Given the description of an element on the screen output the (x, y) to click on. 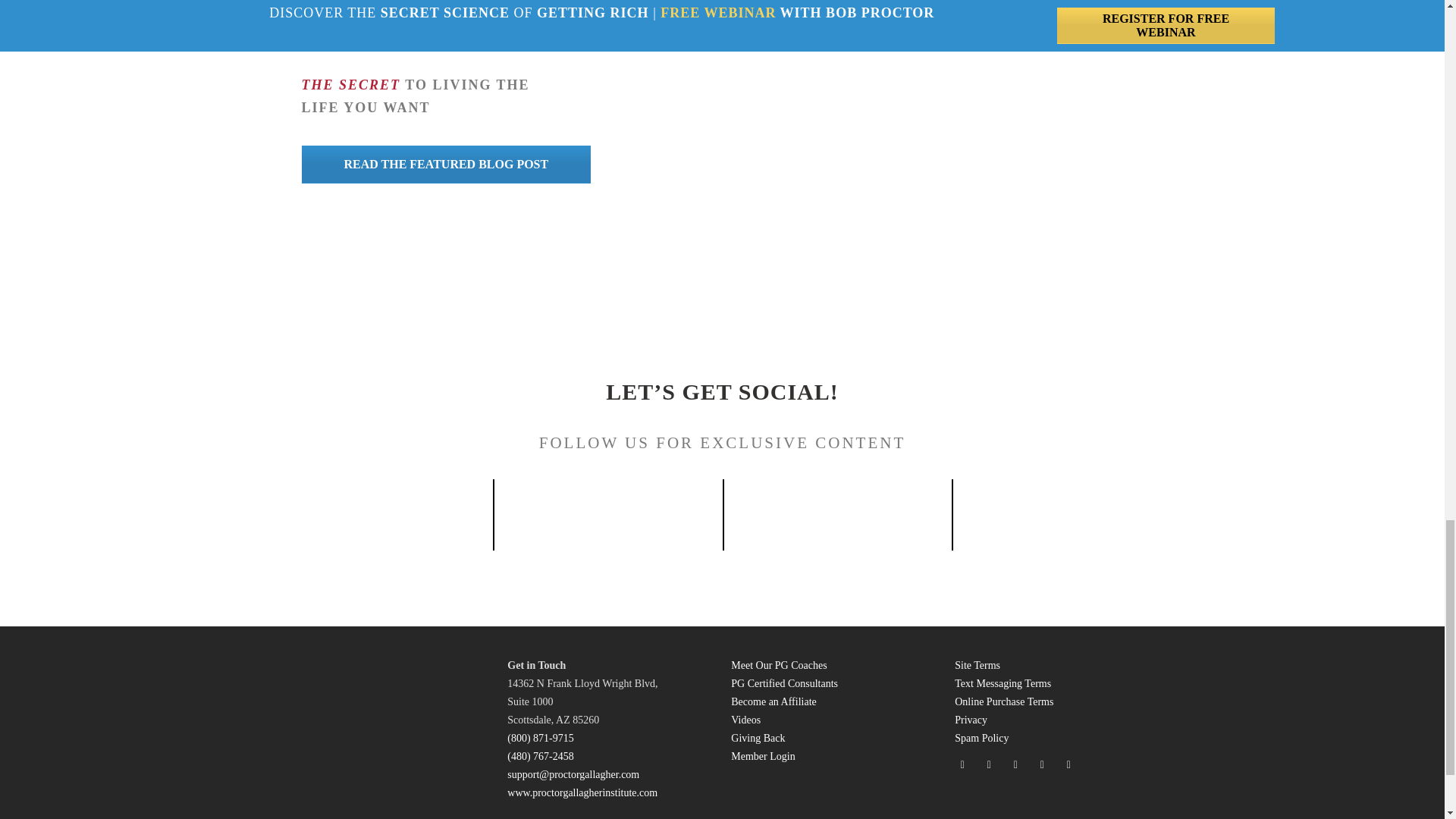
READ THE FEATURED BLOG POST (446, 164)
home-ig-social-icon-70 (608, 506)
home-yt-social-icon-70 (837, 507)
home-fb-social-icon-70 (377, 507)
home-featured-blog-image (958, 106)
home-twitter-social-icon-70 (1067, 507)
